Given the description of an element on the screen output the (x, y) to click on. 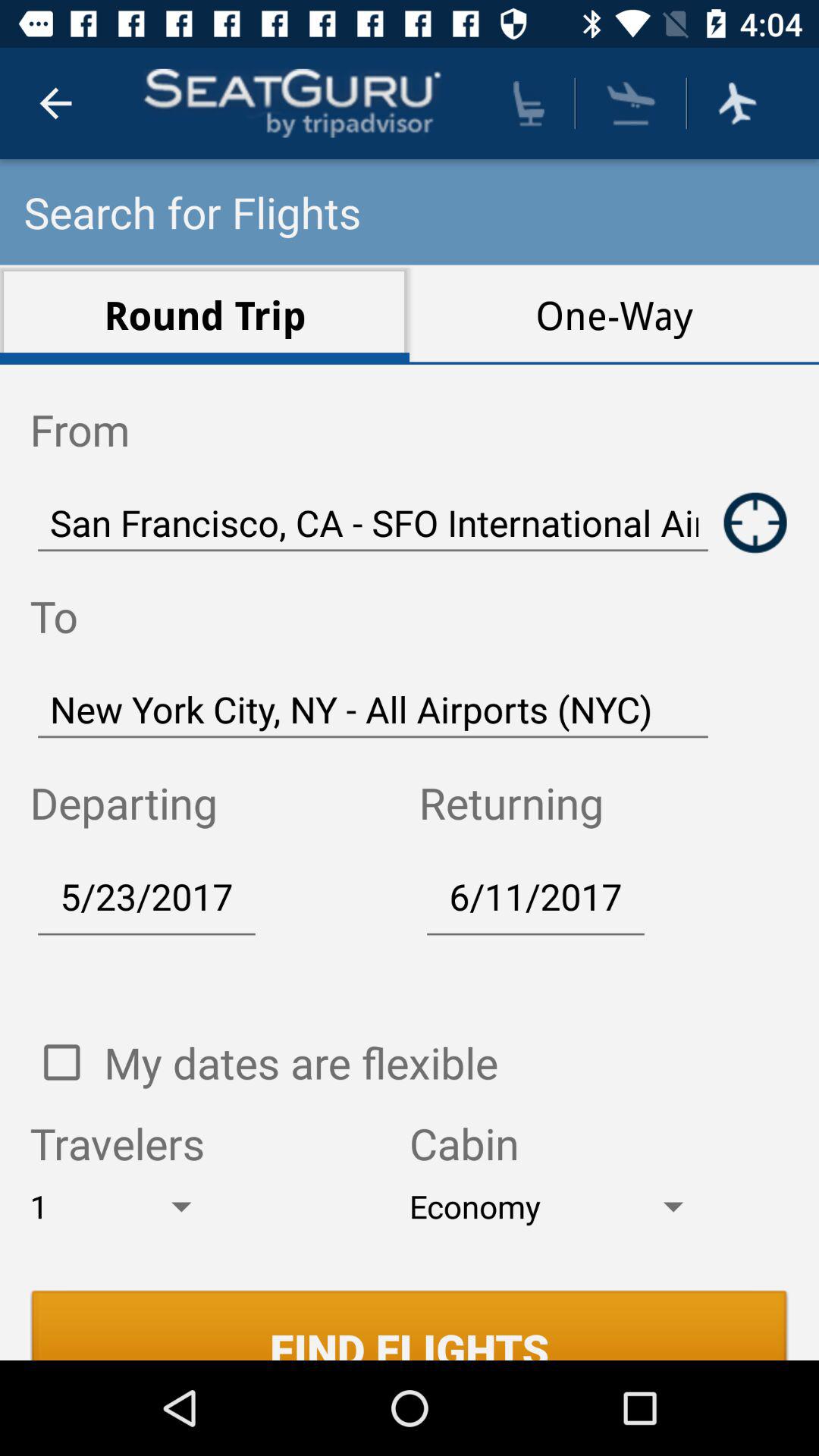
turn on the icon above the san francisco ca item (614, 314)
